Given the description of an element on the screen output the (x, y) to click on. 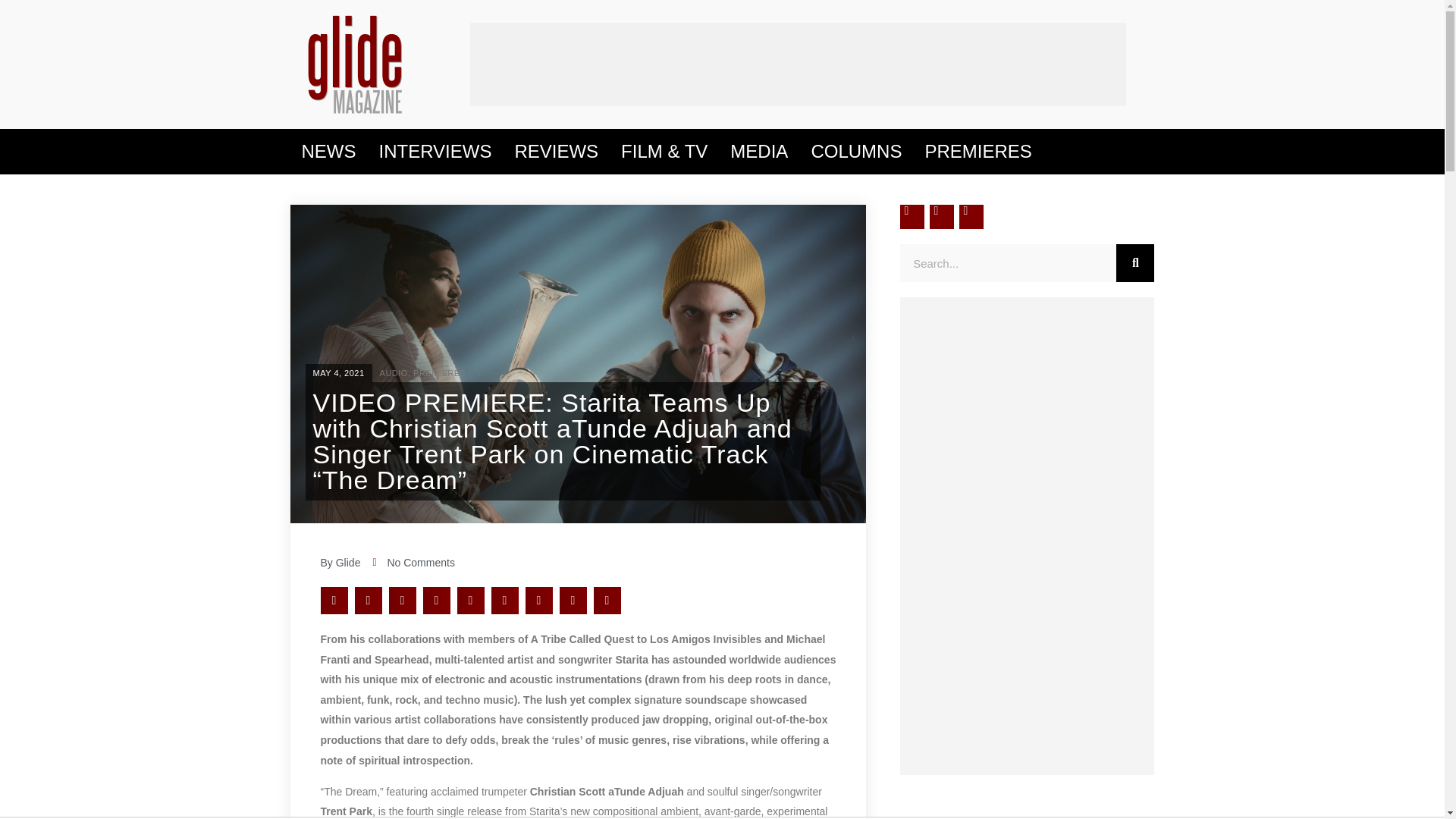
REVIEWS (556, 151)
INTERVIEWS (434, 151)
NEWS (327, 151)
